Given the description of an element on the screen output the (x, y) to click on. 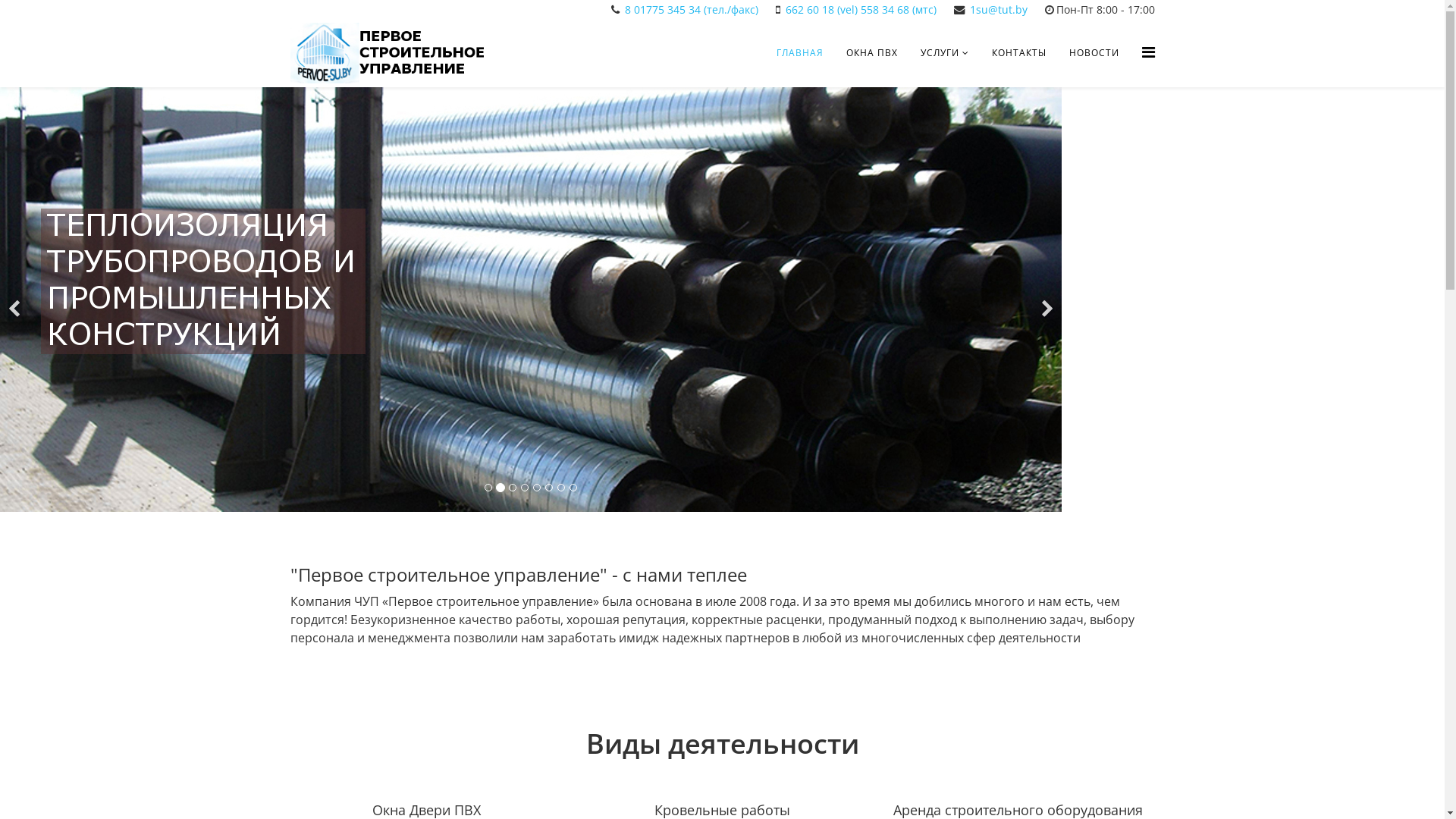
1su@tut.by Element type: text (997, 9)
